Given the description of an element on the screen output the (x, y) to click on. 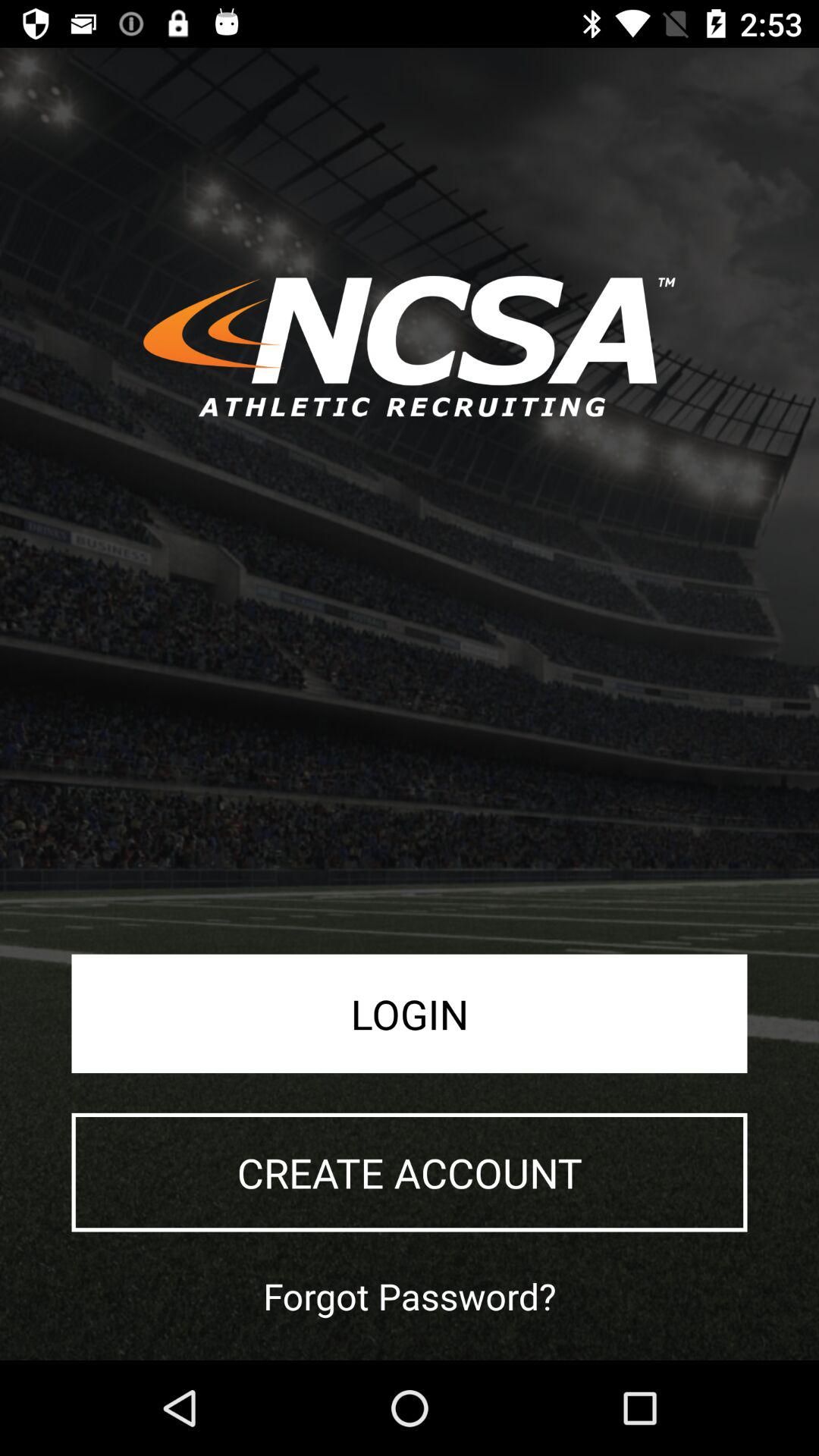
swipe until login item (409, 1013)
